Given the description of an element on the screen output the (x, y) to click on. 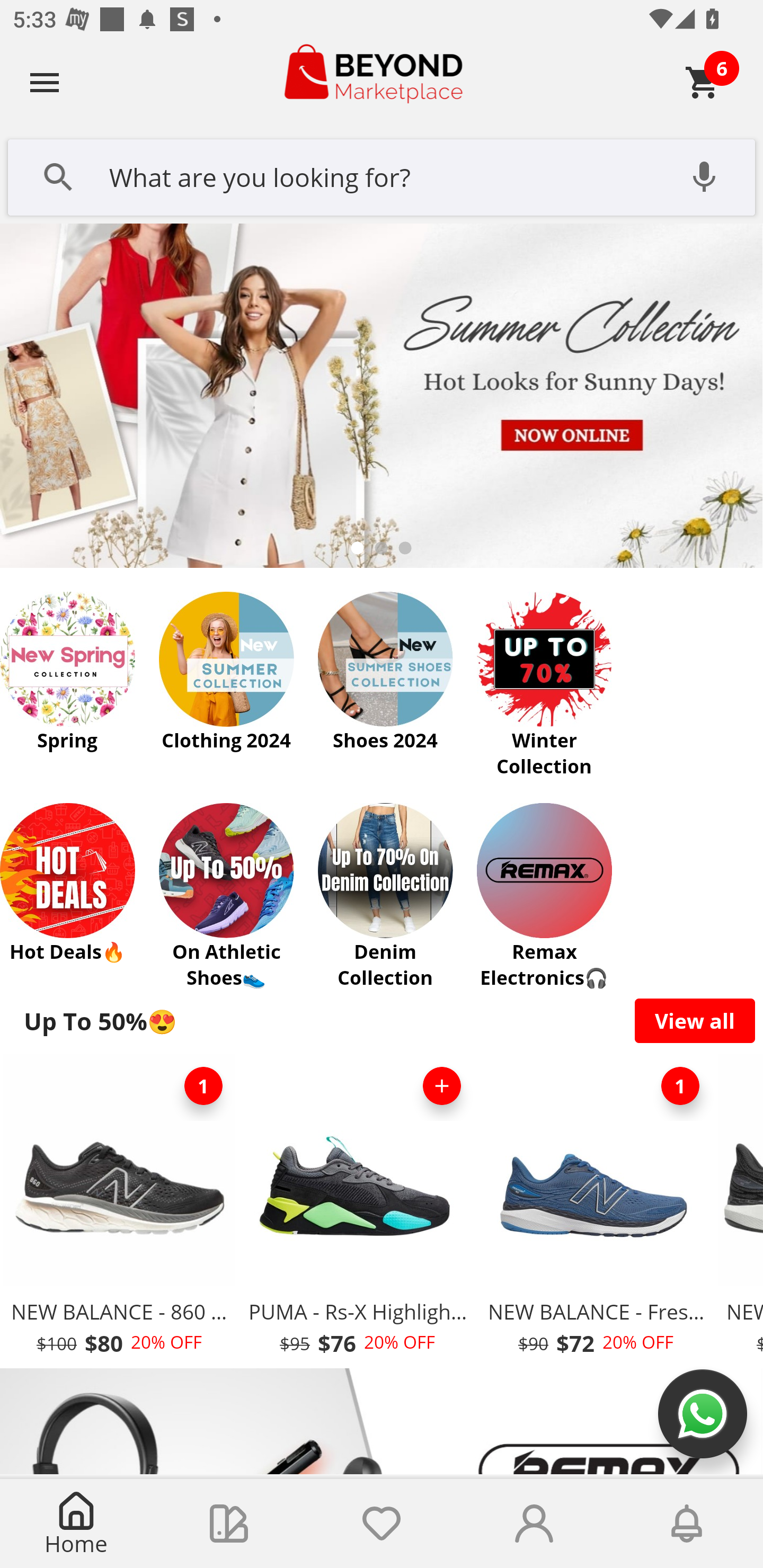
Navigate up (44, 82)
What are you looking for? (381, 175)
View all (694, 1020)
1 NEW BALANCE - 860 Running Shoes $100 $80 20% OFF (119, 1209)
1 (203, 1085)
1 (680, 1085)
Collections (228, 1523)
Wishlist (381, 1523)
Account (533, 1523)
Notifications (686, 1523)
